Given the description of an element on the screen output the (x, y) to click on. 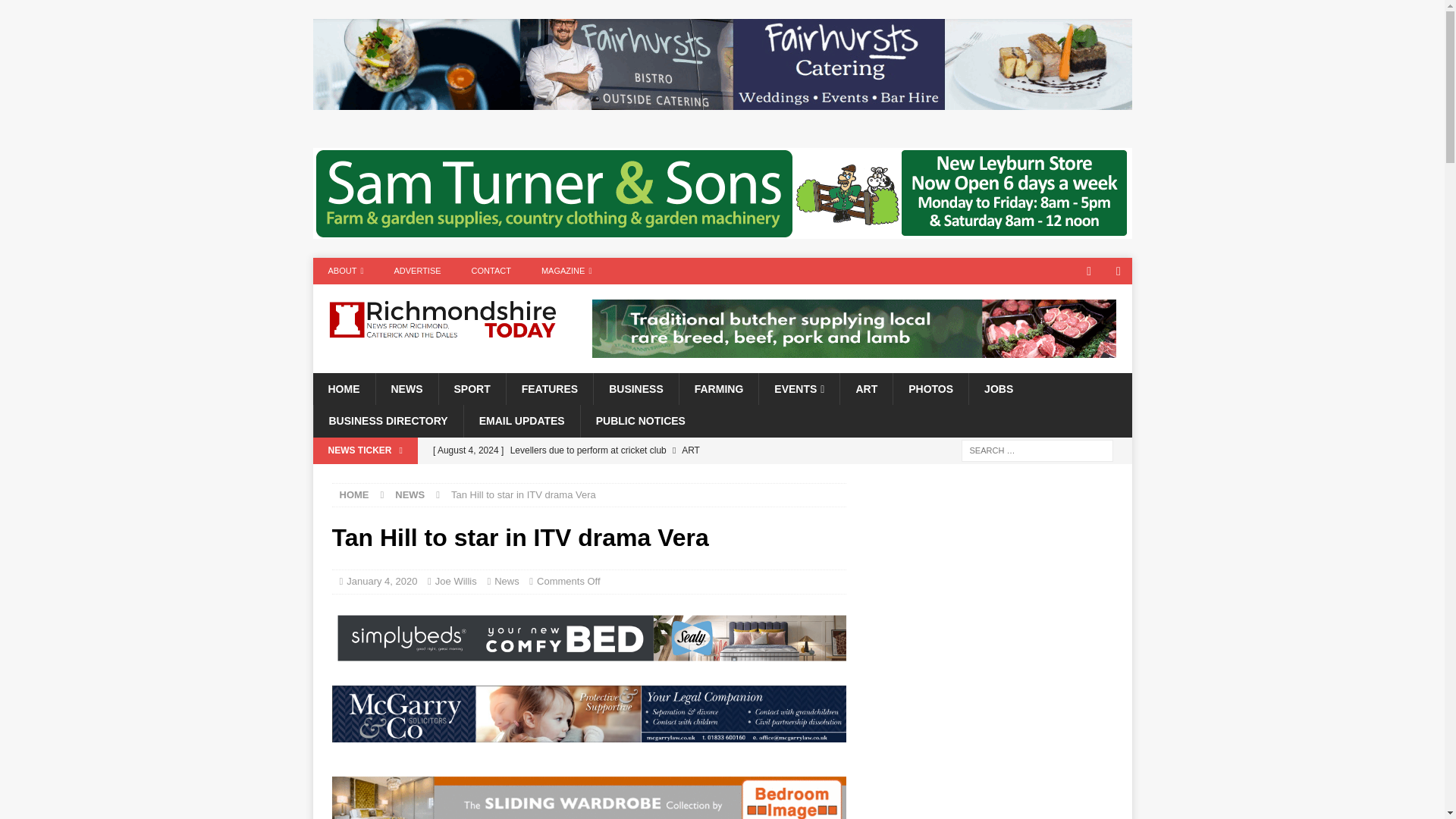
HOME (343, 388)
SPORT (471, 388)
MAGAZINE (566, 270)
NEWS (406, 388)
HOME (354, 494)
BUSINESS DIRECTORY (388, 420)
EMAIL UPDATES (521, 420)
PHOTOS (930, 388)
Search (56, 11)
ART (866, 388)
ABOUT (345, 270)
ADVERTISE (416, 270)
BUSINESS (635, 388)
CONTACT (491, 270)
FEATURES (548, 388)
